Given the description of an element on the screen output the (x, y) to click on. 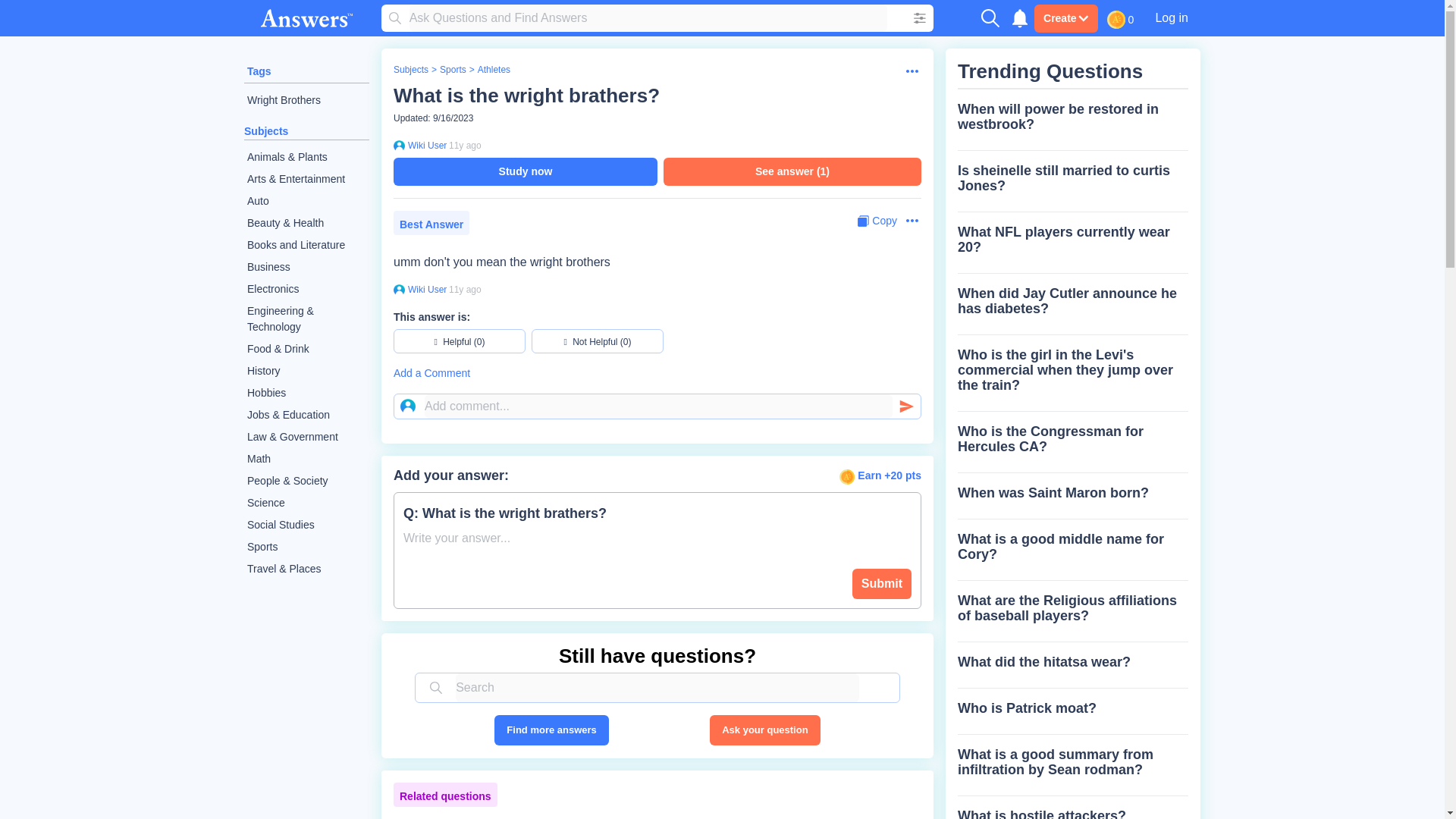
Books and Literature (306, 245)
Ask your question (764, 729)
2012-10-24 03:02:27 (464, 145)
Auto (306, 201)
Social Studies (306, 525)
Business (306, 267)
Wright Brothers (306, 100)
2012-10-24 03:02:27 (464, 289)
Log in (1170, 17)
Science (306, 503)
